Given the description of an element on the screen output the (x, y) to click on. 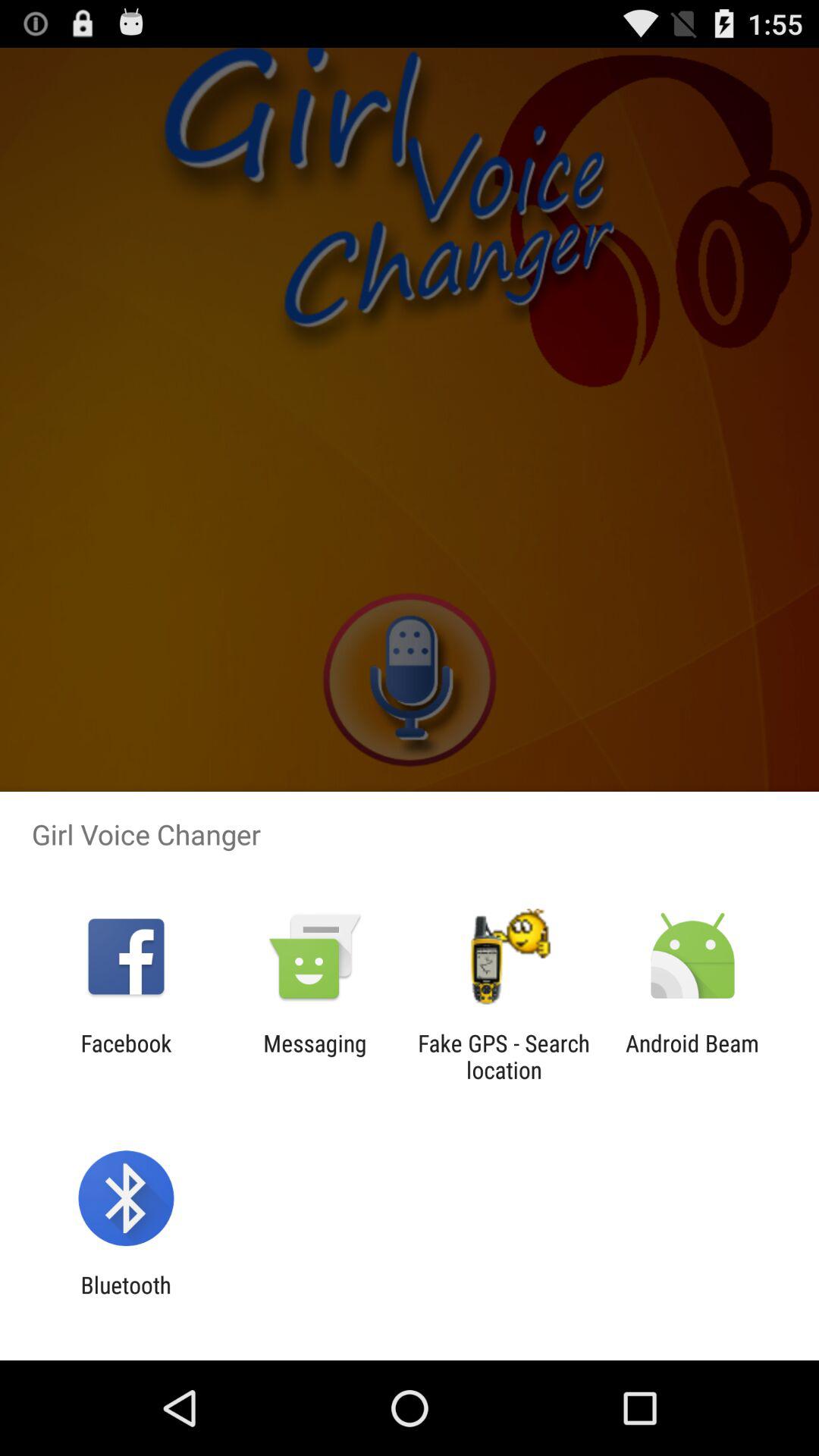
turn on the icon to the left of messaging (125, 1056)
